Given the description of an element on the screen output the (x, y) to click on. 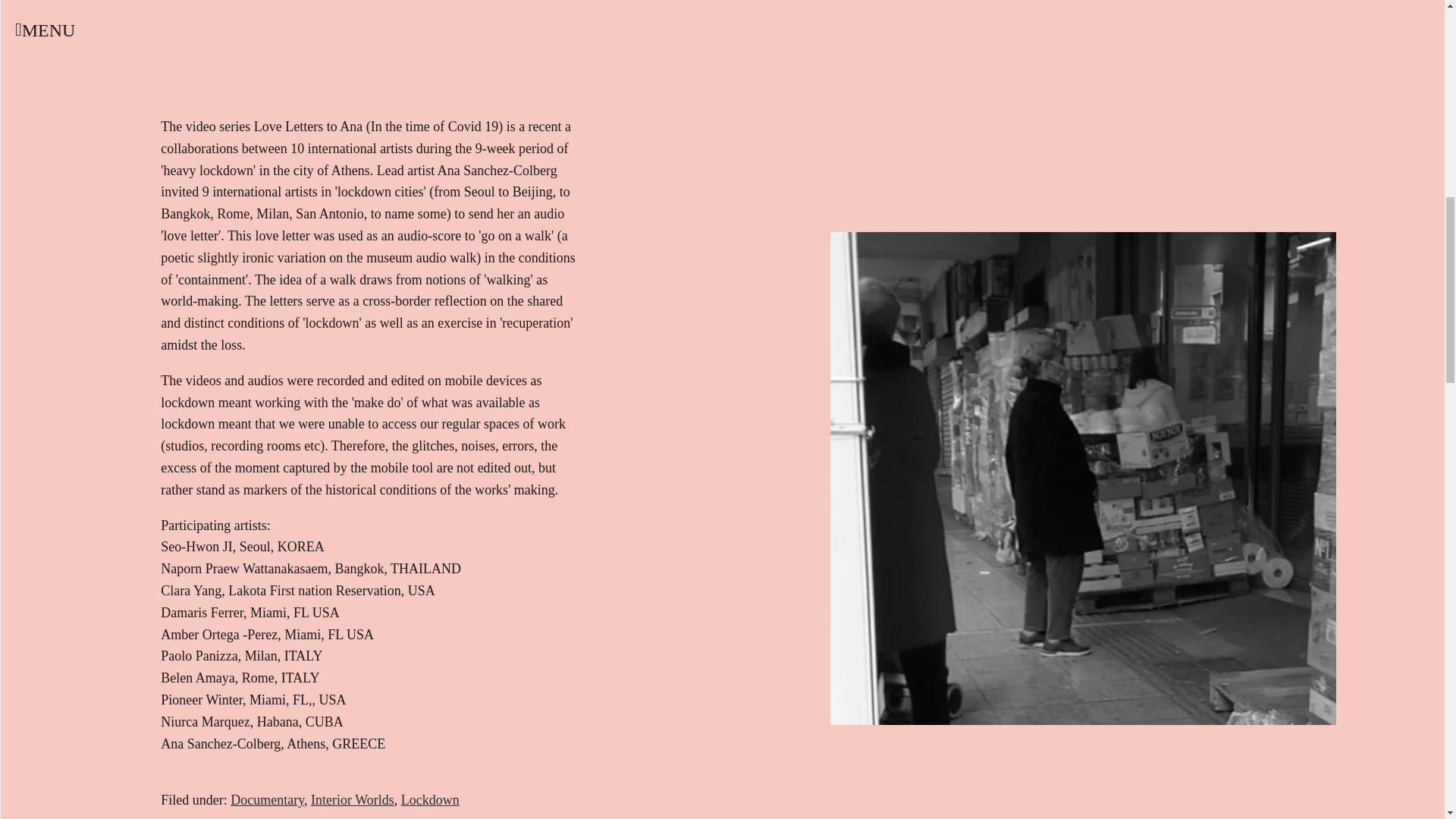
Lockdown (430, 799)
Documentary (267, 799)
Interior Worlds (352, 799)
